Given the description of an element on the screen output the (x, y) to click on. 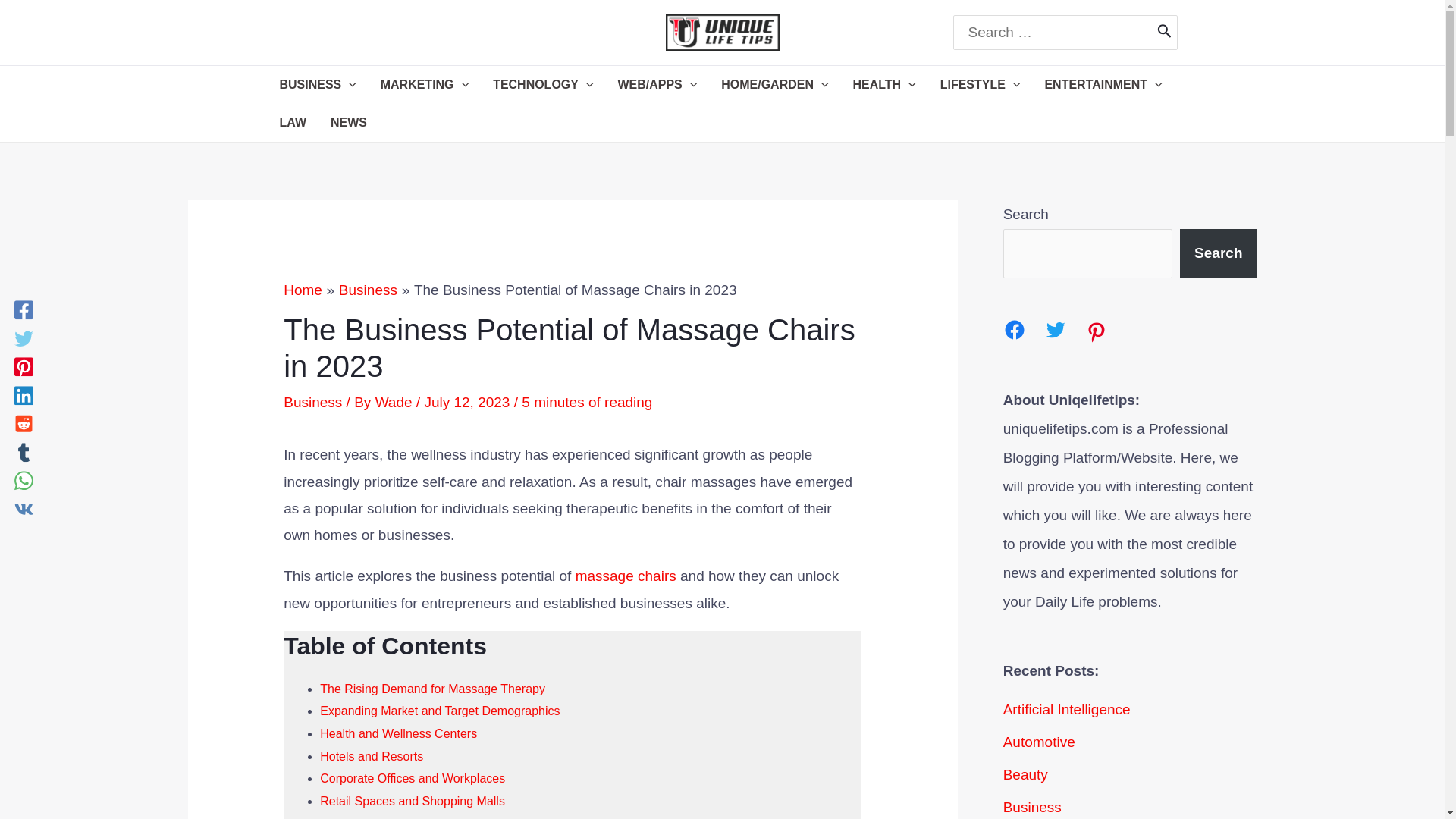
LIFESTYLE (980, 85)
ENTERTAINMENT (1102, 85)
BUSINESS (317, 85)
HEALTH (884, 85)
TECHNOLOGY (542, 85)
View all posts by Wade (395, 401)
MARKETING (424, 85)
Search (1164, 32)
